Given the description of an element on the screen output the (x, y) to click on. 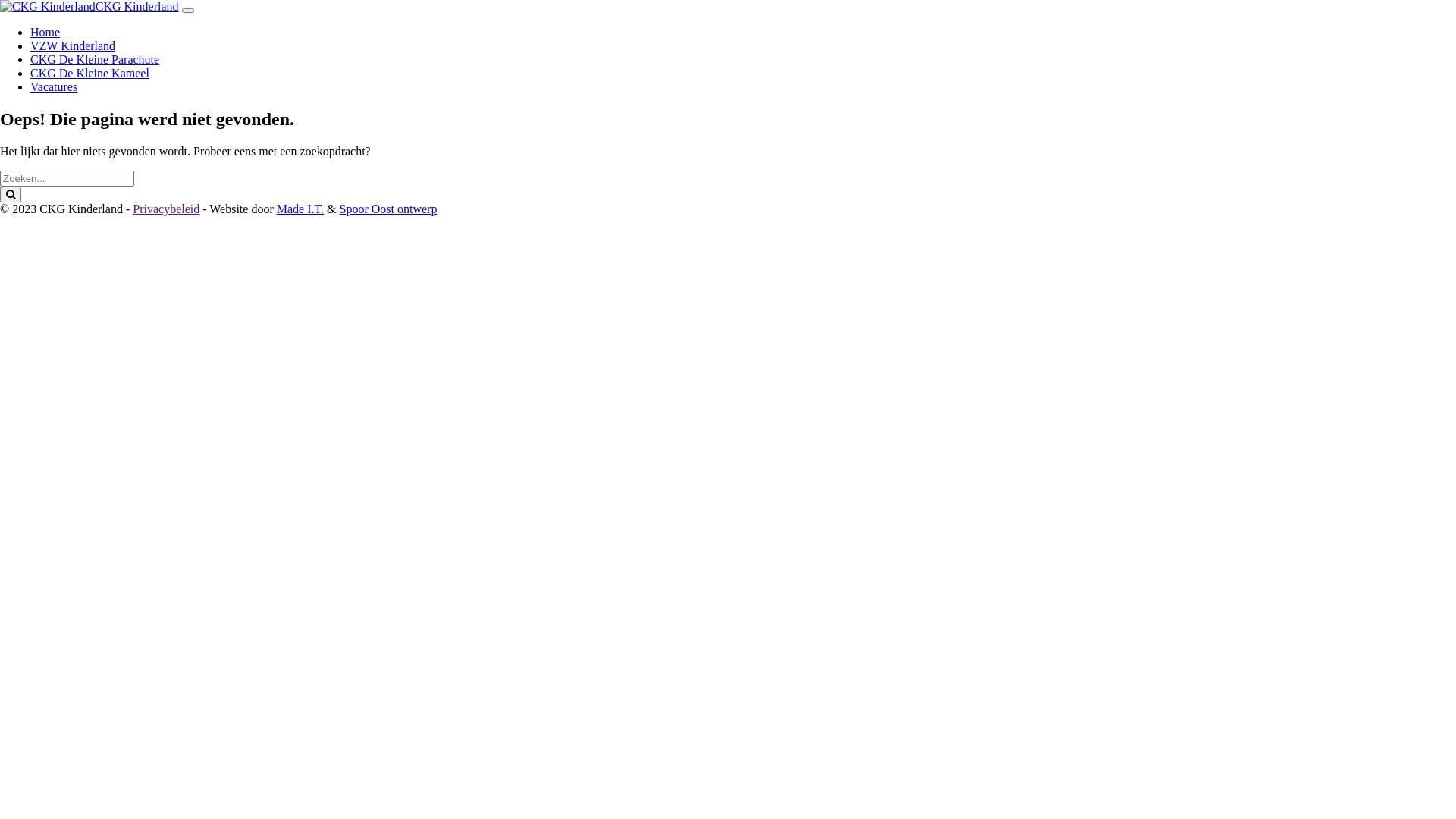
Menu Element type: text (188, 10)
CKG De Kleine Kameel Element type: text (89, 72)
Made I.T. Element type: text (299, 208)
Vacatures Element type: text (53, 86)
Home Element type: text (44, 31)
Spoor Oost ontwerp Element type: text (388, 208)
CKG De Kleine Parachute Element type: text (94, 59)
VZW Kinderland Element type: text (72, 45)
Privacybeleid Element type: text (165, 208)
Zoeken Element type: text (10, 194)
CKG Kinderland Element type: text (136, 6)
